Given the description of an element on the screen output the (x, y) to click on. 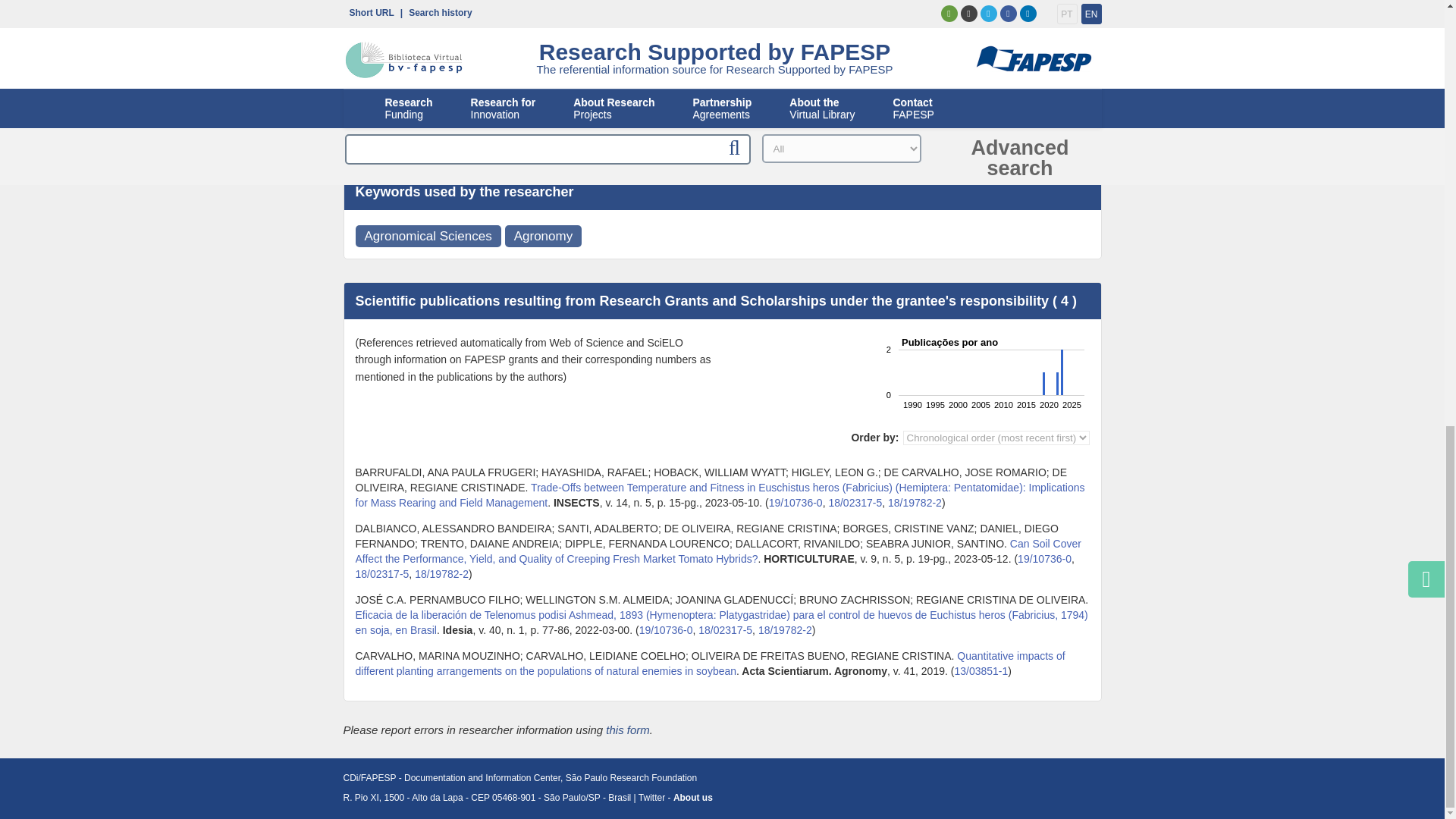
Number of FAPESP process (666, 630)
Number of FAPESP process (725, 630)
Number of FAPESP process (915, 502)
Number of FAPESP process (382, 573)
Number of FAPESP process (441, 573)
Number of FAPESP process (1044, 558)
Number of FAPESP process (795, 502)
Number of FAPESP process (785, 630)
Number of FAPESP process (855, 502)
Number of FAPESP process (980, 671)
